Given the description of an element on the screen output the (x, y) to click on. 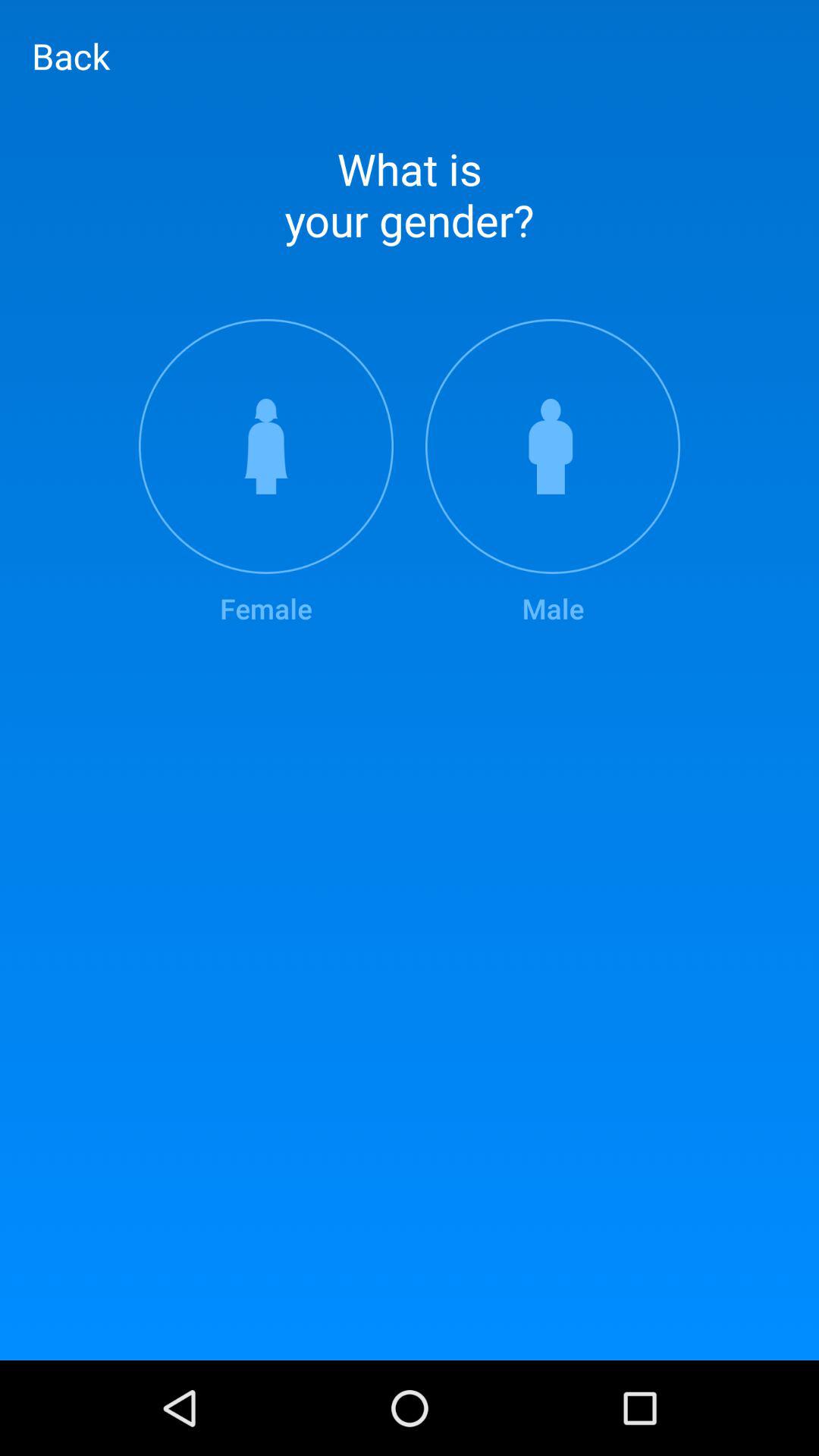
open item to the right of the female item (552, 473)
